Given the description of an element on the screen output the (x, y) to click on. 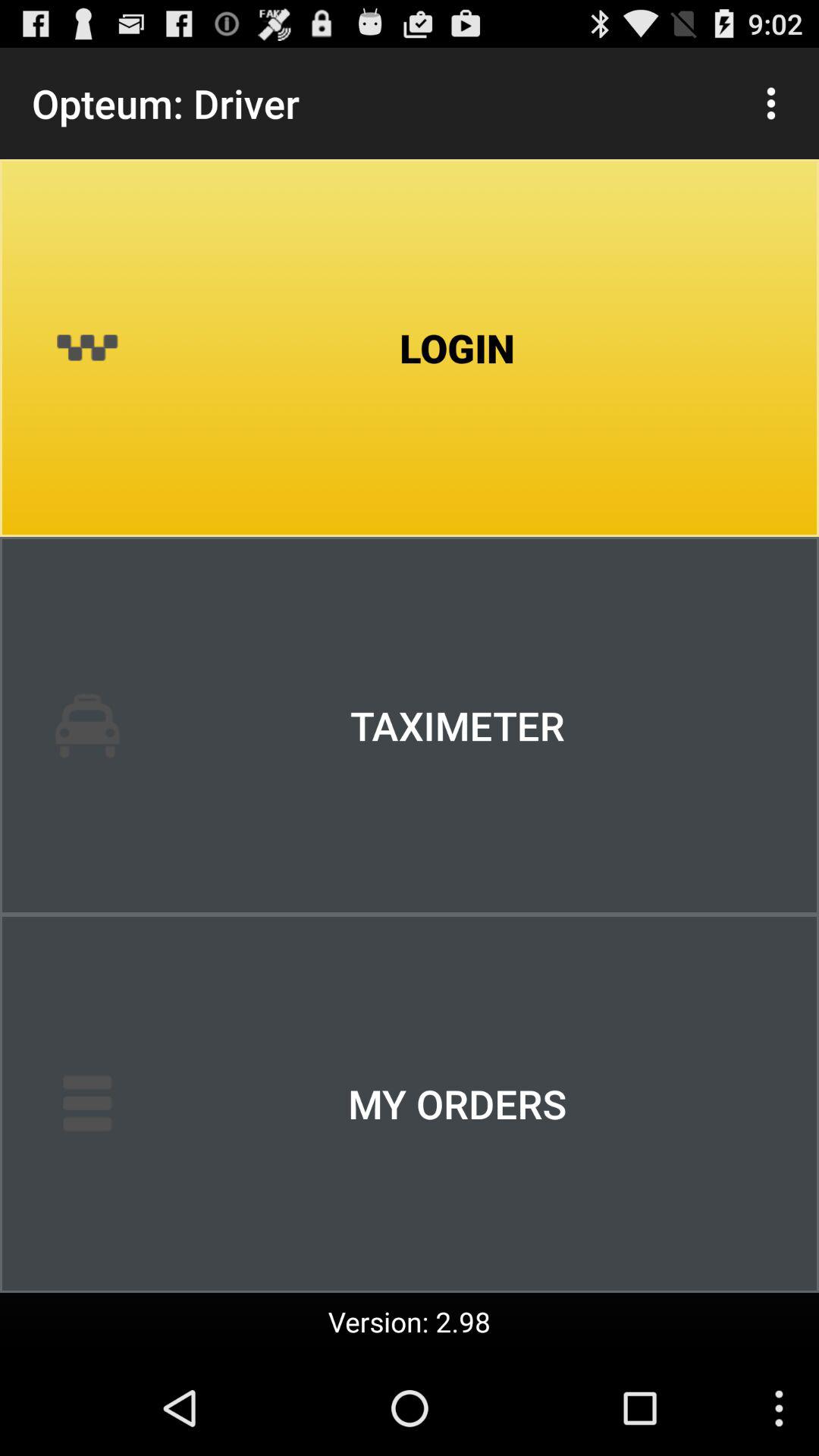
tap icon below the taximeter item (409, 1103)
